Given the description of an element on the screen output the (x, y) to click on. 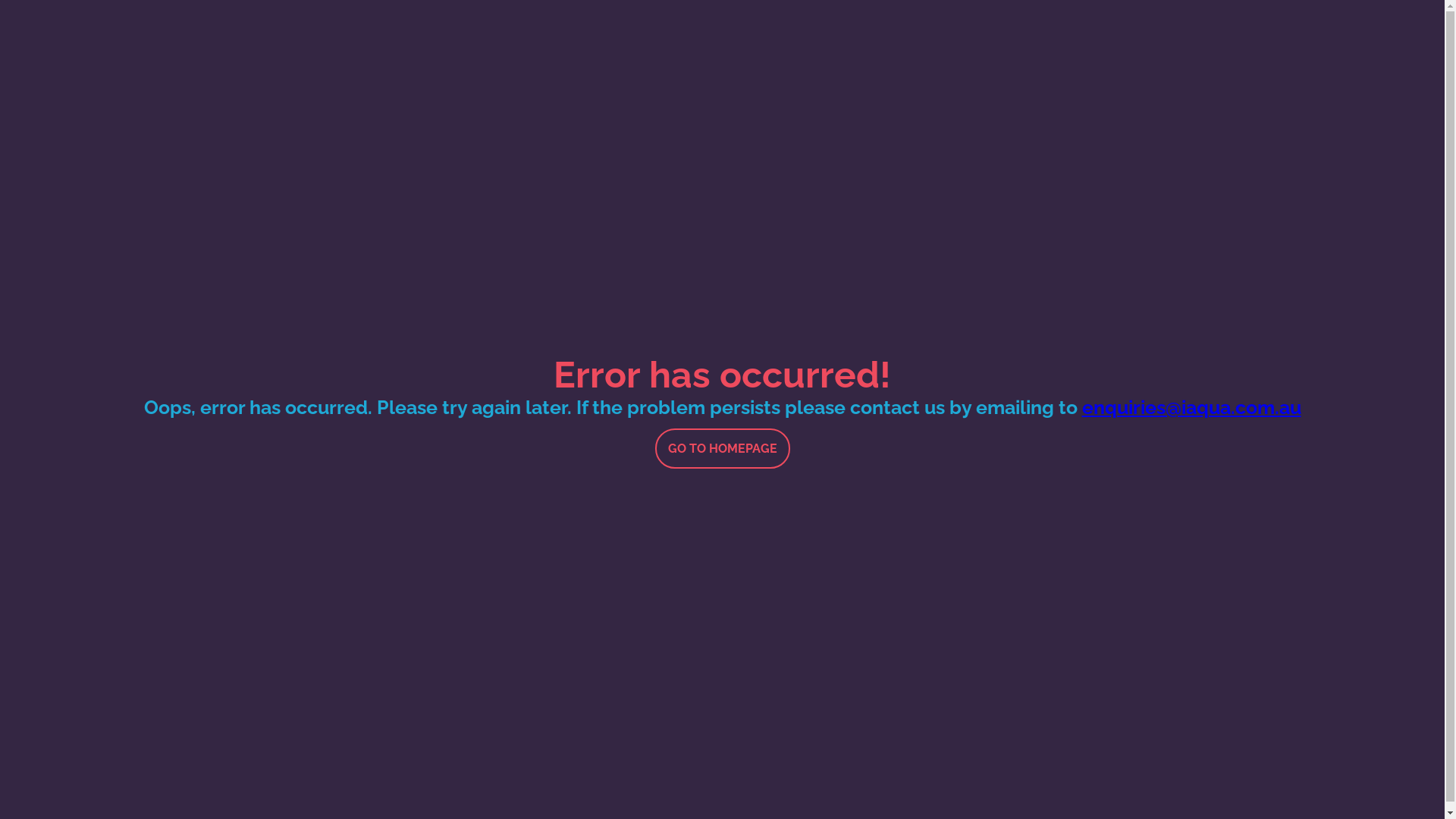
GO TO HOMEPAGE Element type: text (722, 447)
enquiries@iaqua.com.au Element type: text (1190, 406)
